Given the description of an element on the screen output the (x, y) to click on. 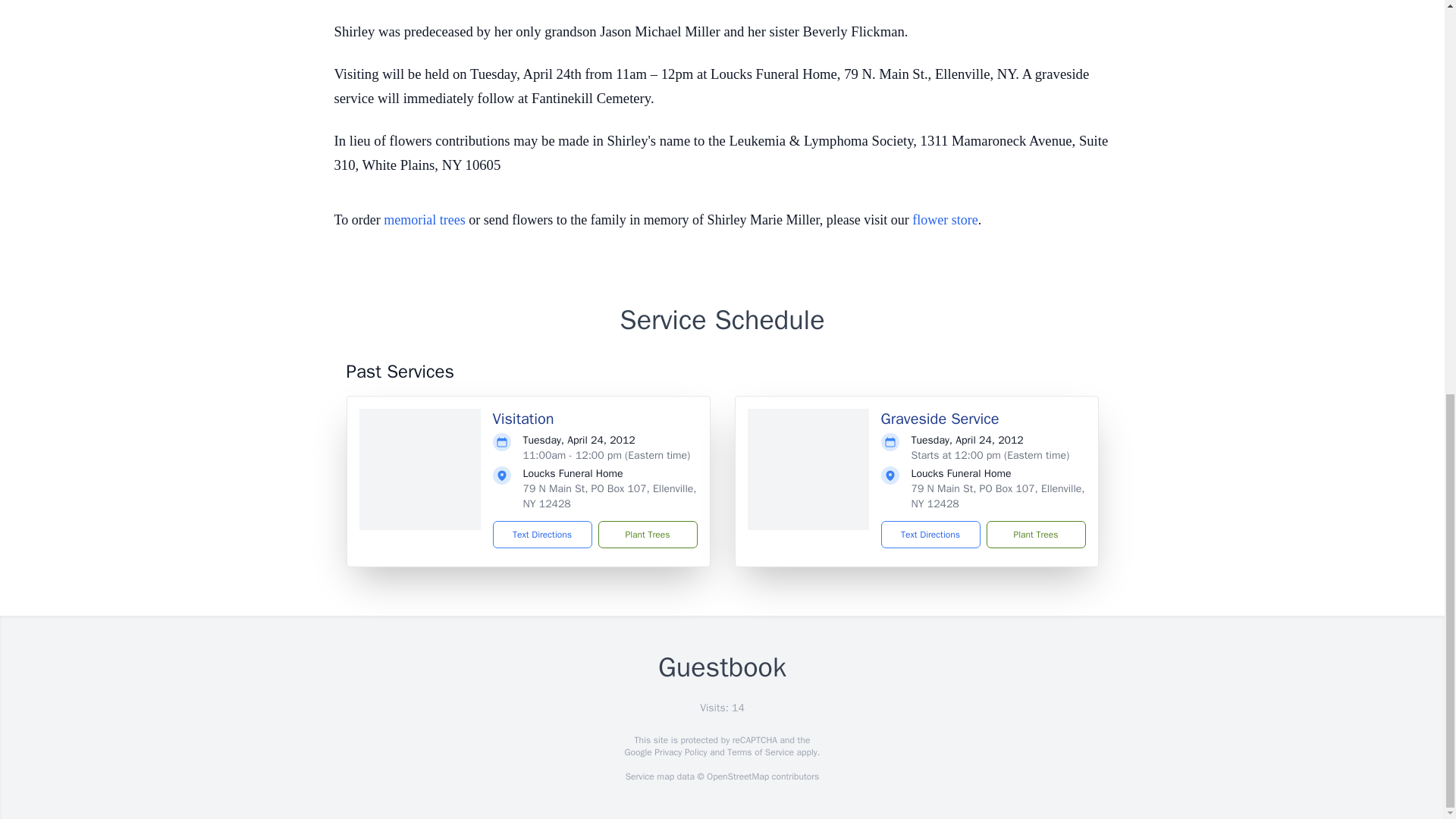
Text Directions (542, 533)
OpenStreetMap (737, 776)
memorial trees (424, 219)
79 N Main St, PO Box 107, Ellenville, NY 12428 (997, 496)
Plant Trees (1034, 533)
79 N Main St, PO Box 107, Ellenville, NY 12428 (609, 496)
Privacy Policy (679, 752)
Terms of Service (759, 752)
Text Directions (929, 533)
Plant Trees (646, 533)
